Given the description of an element on the screen output the (x, y) to click on. 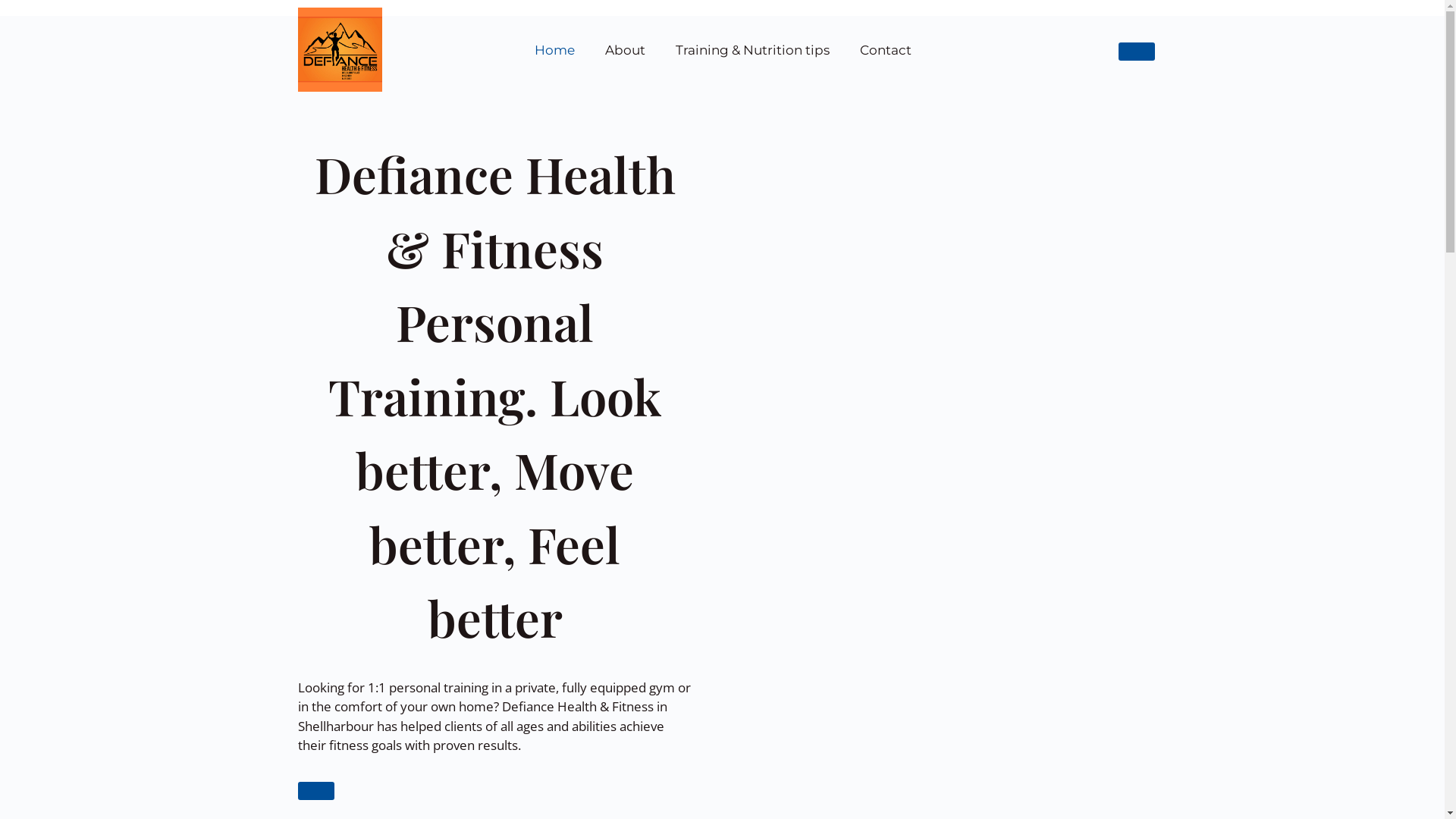
About Element type: text (624, 48)
Training & Nutrition tips Element type: text (752, 48)
Home Element type: text (554, 48)
Contact Element type: text (885, 48)
